Given the description of an element on the screen output the (x, y) to click on. 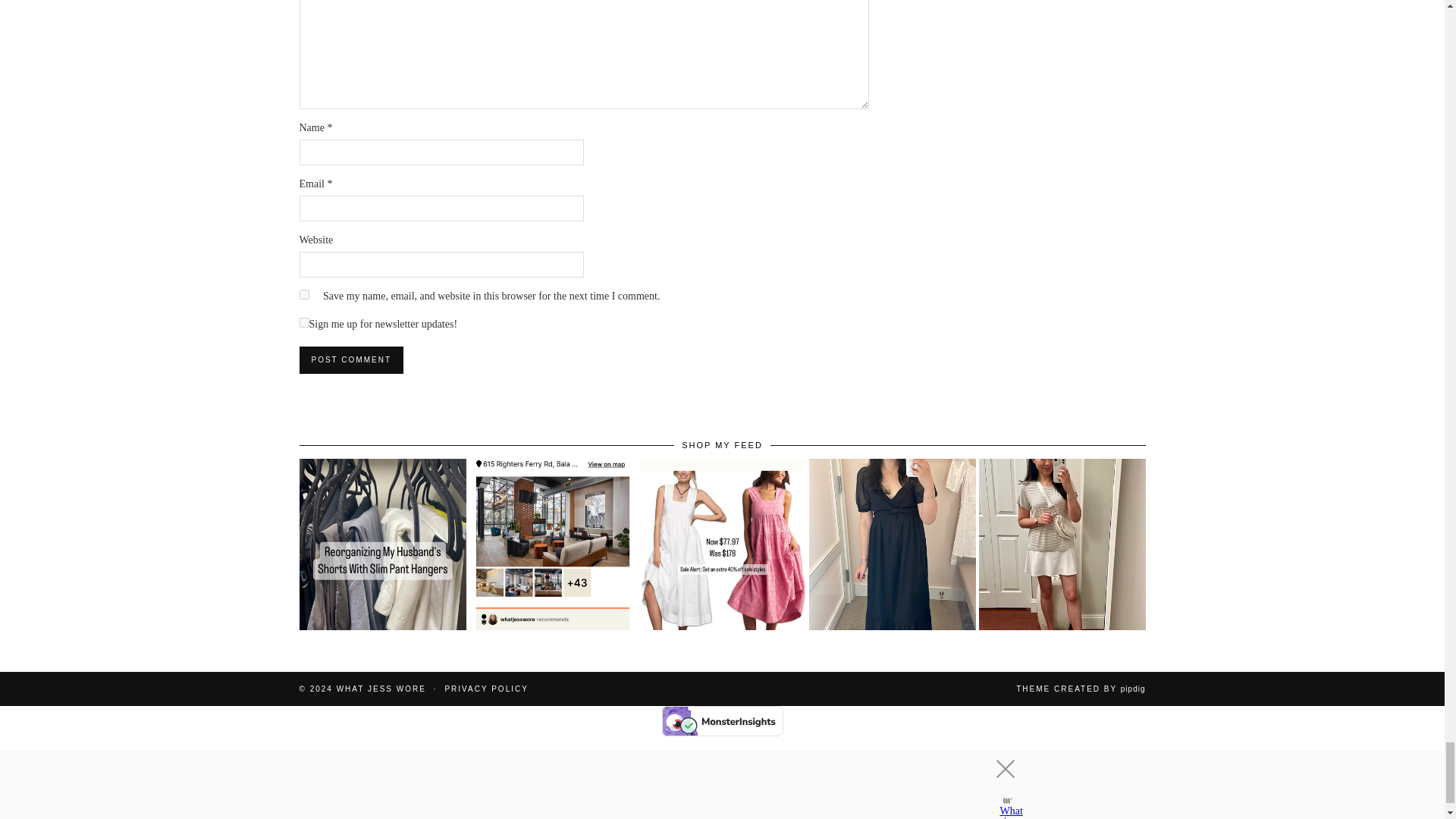
1 (303, 322)
Post Comment (350, 359)
yes (303, 294)
